Given the description of an element on the screen output the (x, y) to click on. 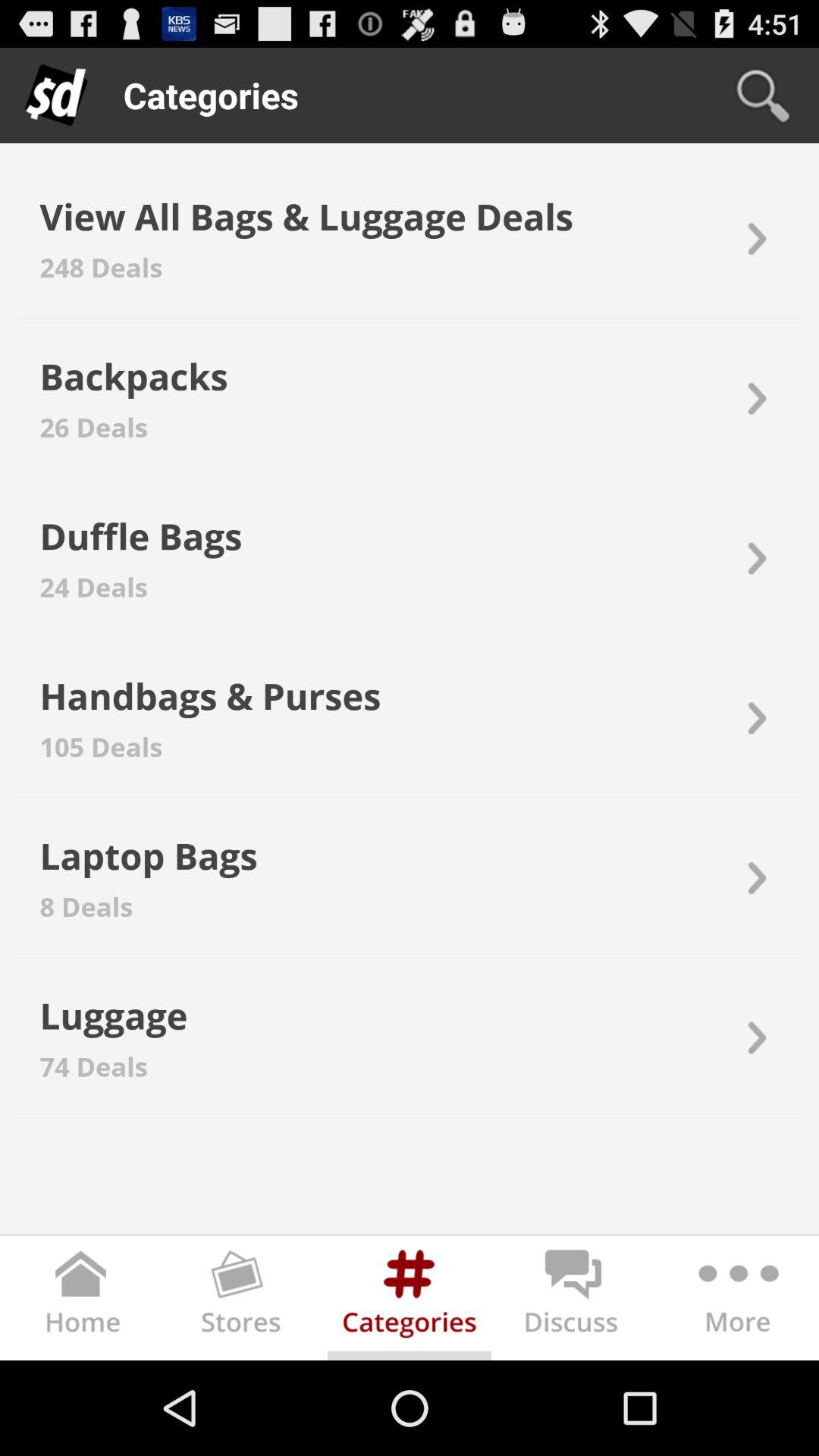
more (736, 1300)
